Given the description of an element on the screen output the (x, y) to click on. 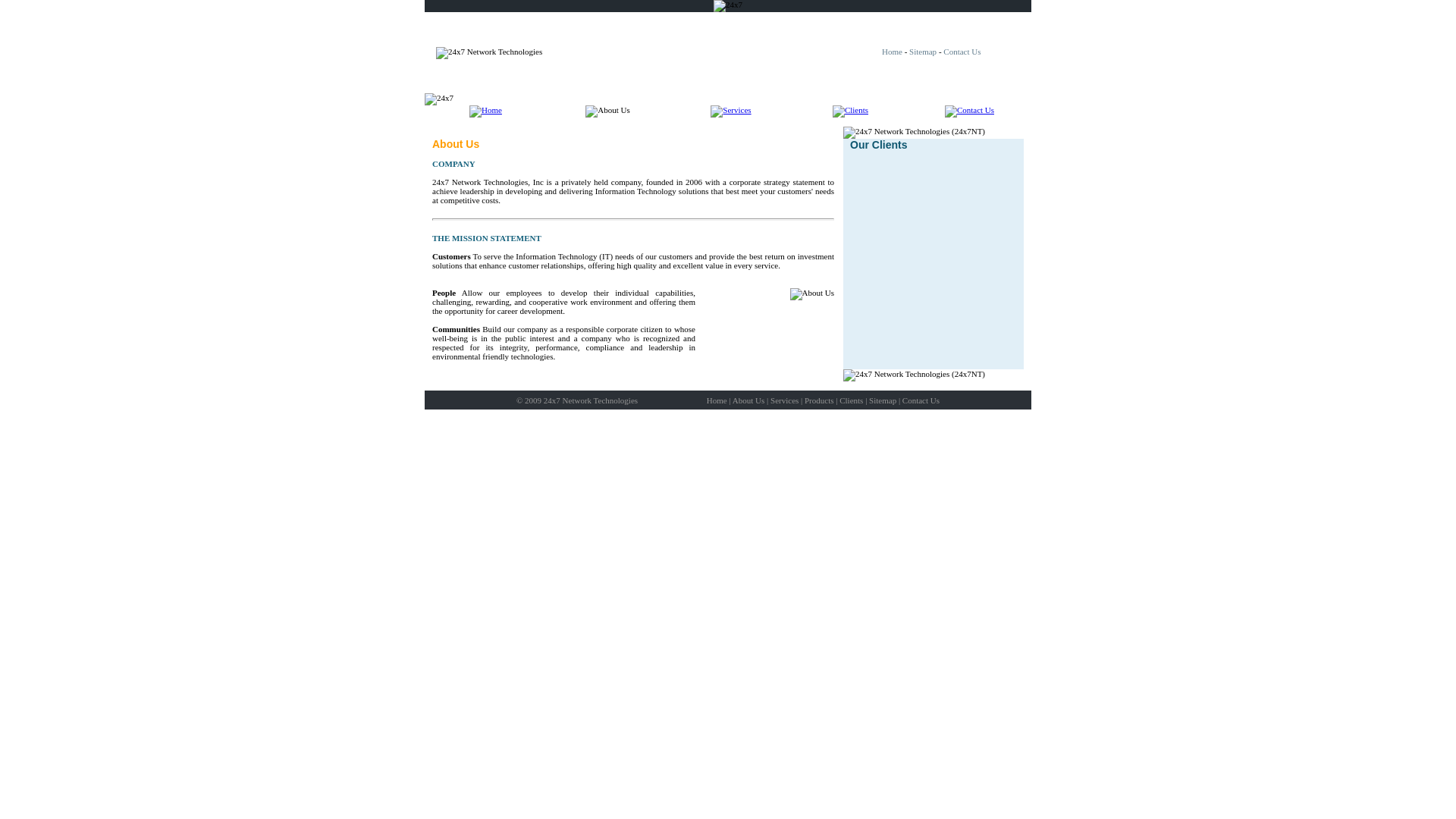
Home Element type: text (716, 399)
Products Element type: text (819, 399)
Home Element type: text (891, 51)
Sitemap Element type: text (882, 399)
Contact Us Element type: text (961, 51)
Contact Us Element type: text (920, 399)
Services Element type: text (784, 399)
About Us Element type: text (748, 399)
Sitemap Element type: text (922, 51)
Clients Element type: text (850, 399)
